Given the description of an element on the screen output the (x, y) to click on. 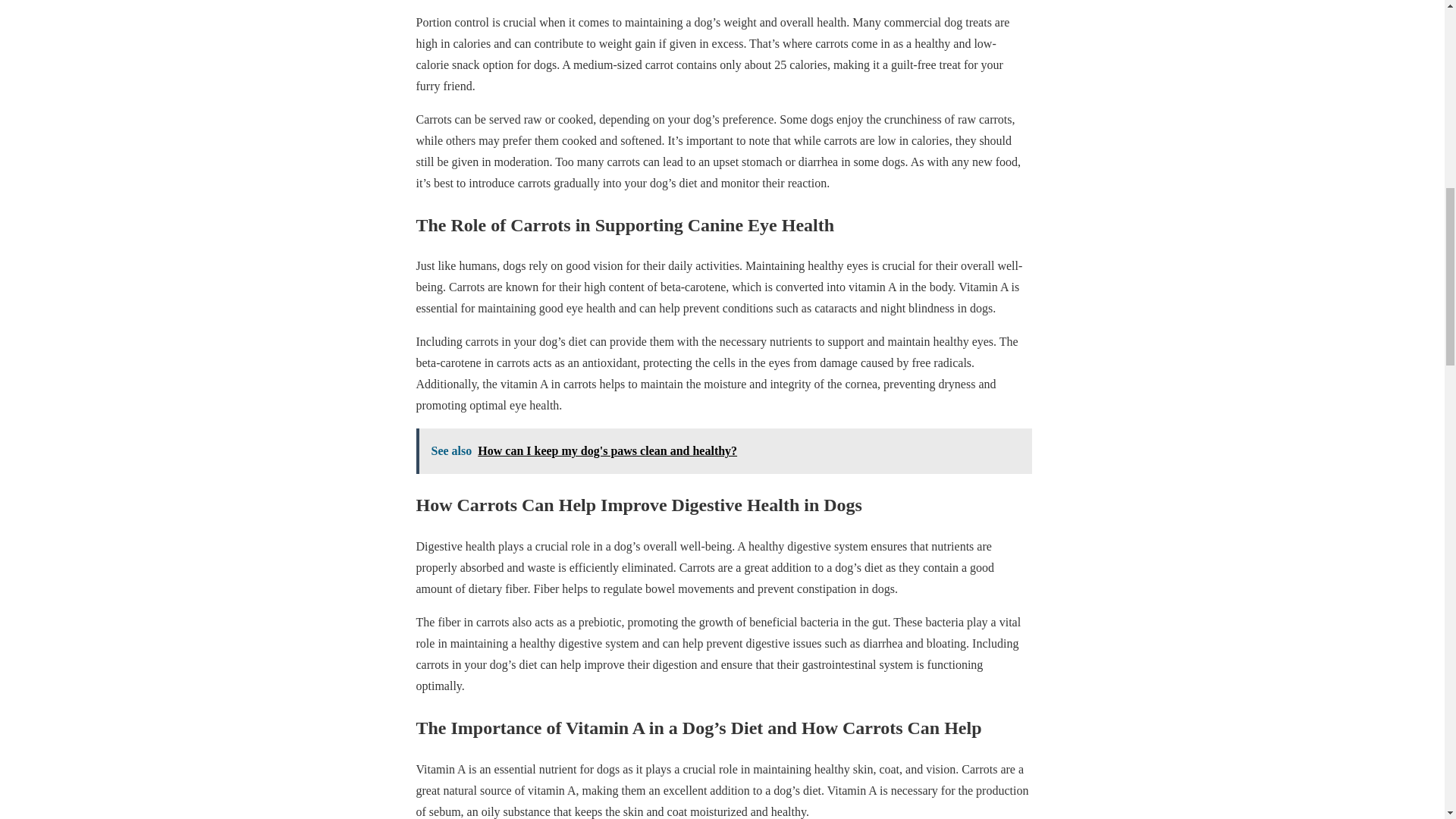
See also  How can I keep my dog's paws clean and healthy? (722, 451)
